Given the description of an element on the screen output the (x, y) to click on. 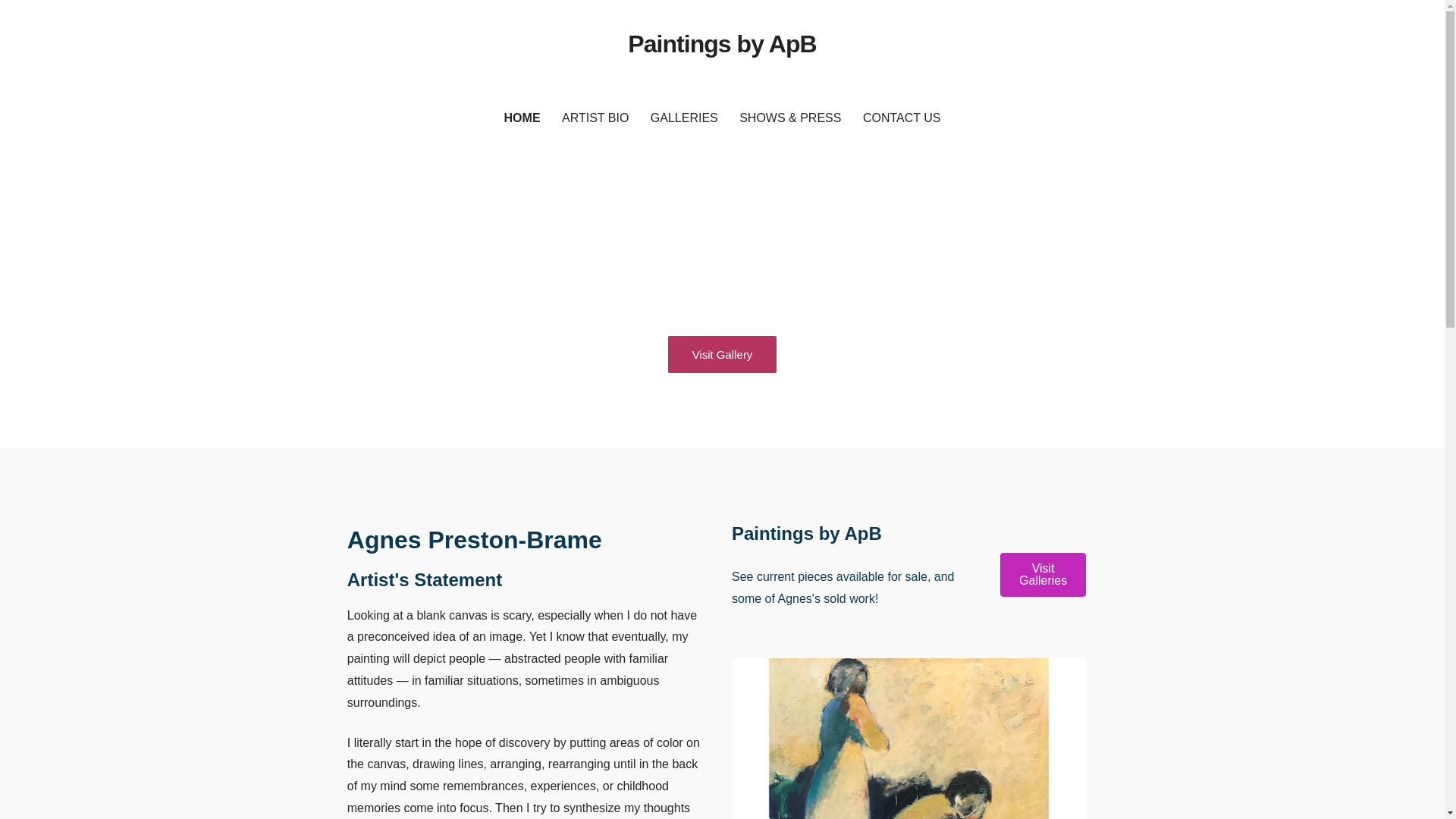
ARTIST BIO (595, 118)
GALLERIES (684, 118)
Paintings by ApB (721, 43)
Visit Galleries (1043, 574)
HOME (522, 118)
Visit Gallery (722, 354)
CONTACT US (901, 118)
